Given the description of an element on the screen output the (x, y) to click on. 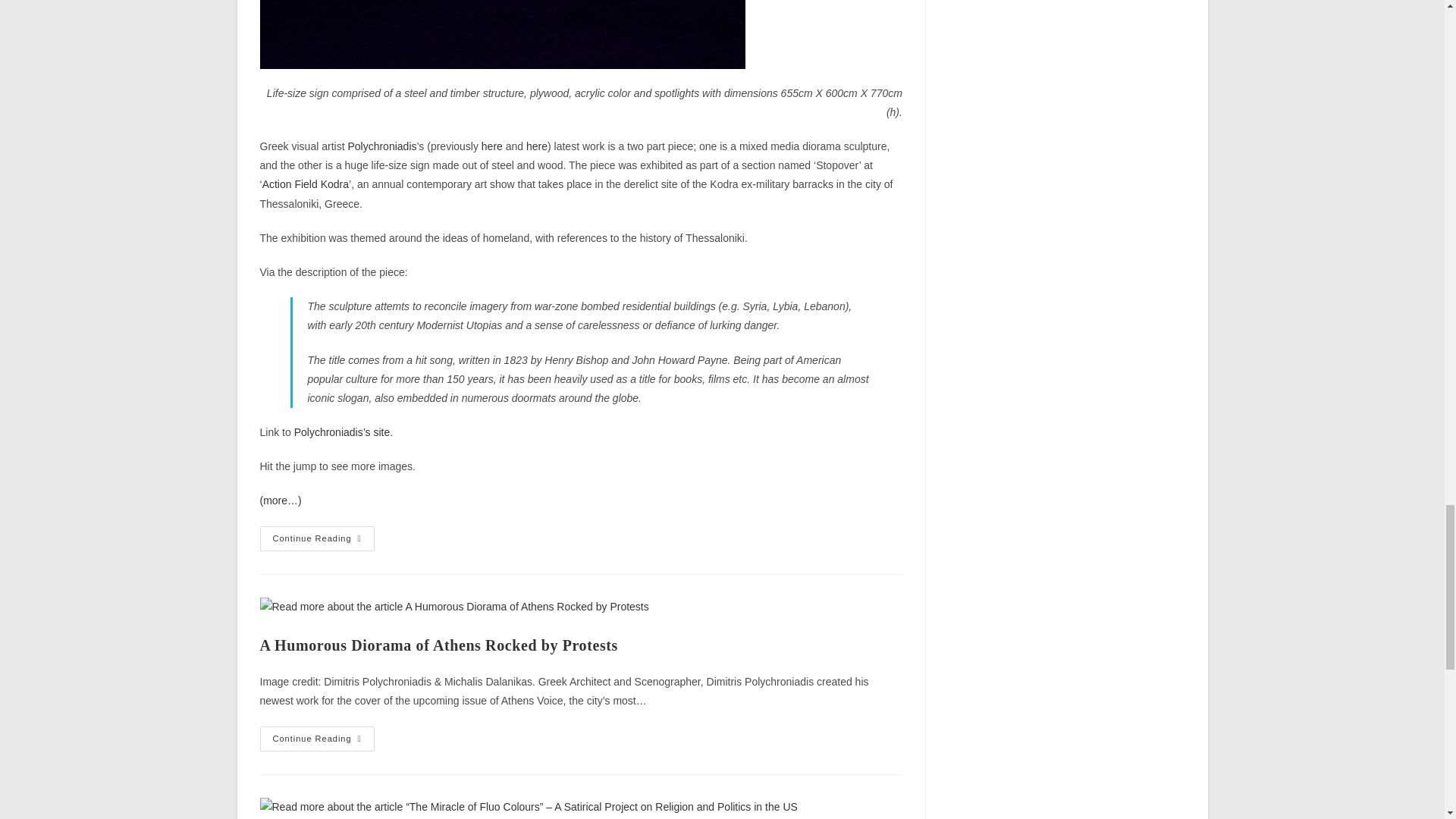
Home-Sweet-Home-Polychroniadis-07 (501, 34)
Polychroniadis (381, 146)
Polychroniadis (381, 146)
Polychroniadis (342, 431)
A Humorous Diorama of Athens Rocked by Protests (491, 146)
A Humorous Diorama of Athens Rocked by Protests (438, 645)
here (536, 146)
Action Field Kodra (305, 184)
